Given the description of an element on the screen output the (x, y) to click on. 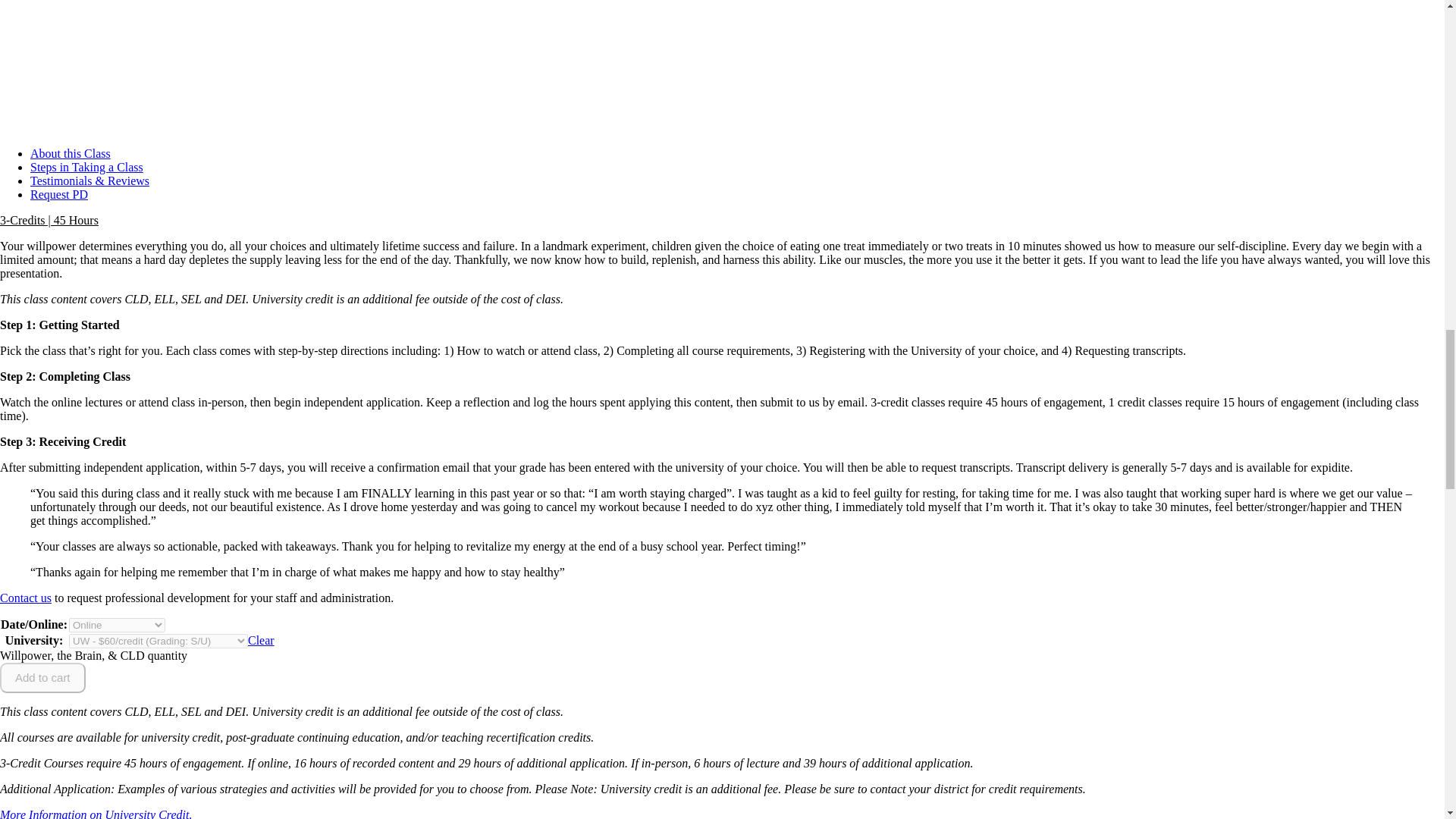
About this Class (70, 153)
Steps in Taking a Class (86, 166)
Contact us (25, 597)
Add to cart (42, 677)
Request PD (58, 194)
More Information on University Credit. (96, 813)
Clear (261, 640)
